Given the description of an element on the screen output the (x, y) to click on. 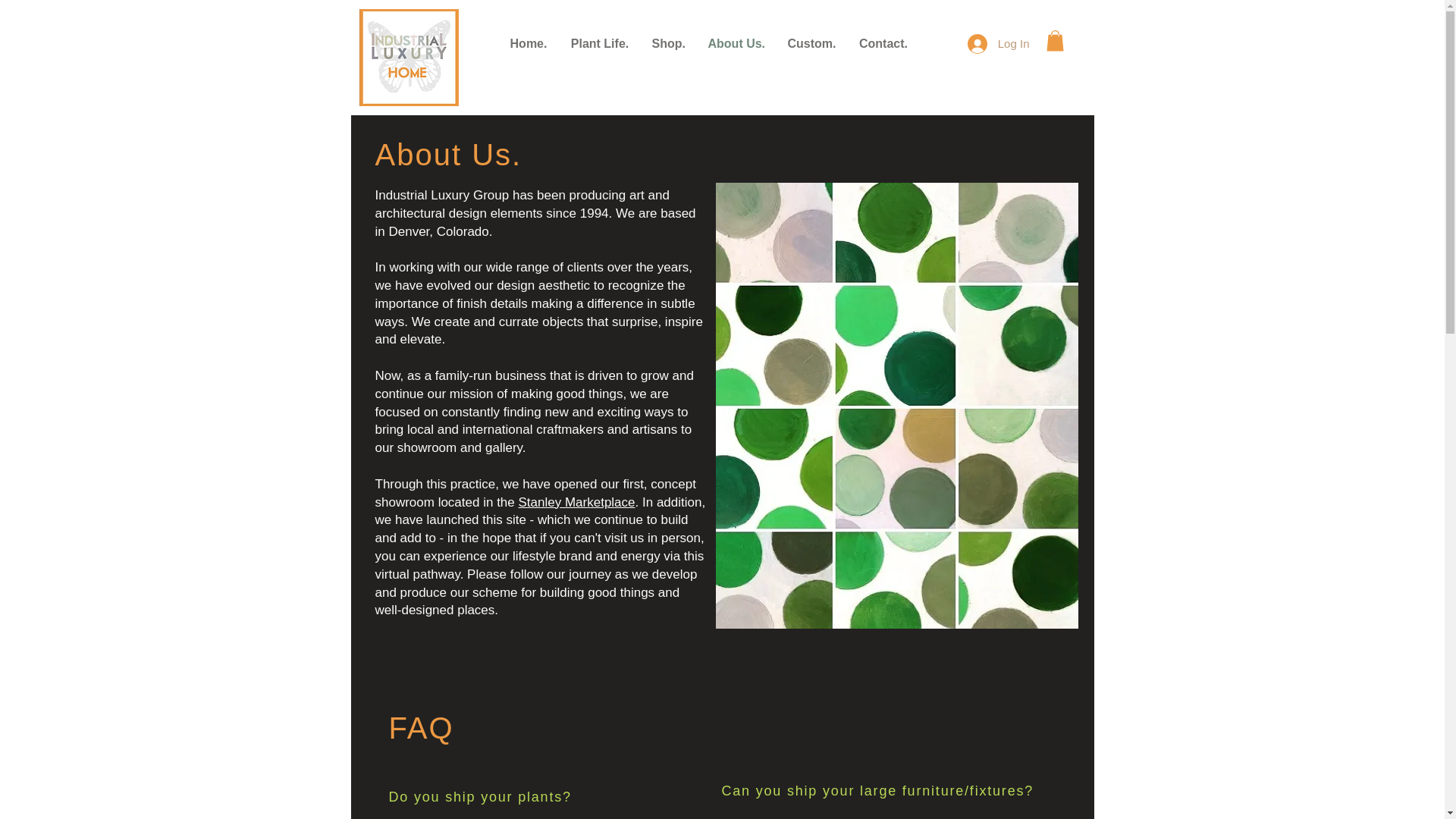
Plant Life. (599, 43)
Log In (998, 42)
About Us. (735, 43)
Stanley Marketplace (576, 502)
Contact. (883, 43)
Home. (528, 43)
Custom. (811, 43)
Shop. (667, 43)
